Given the description of an element on the screen output the (x, y) to click on. 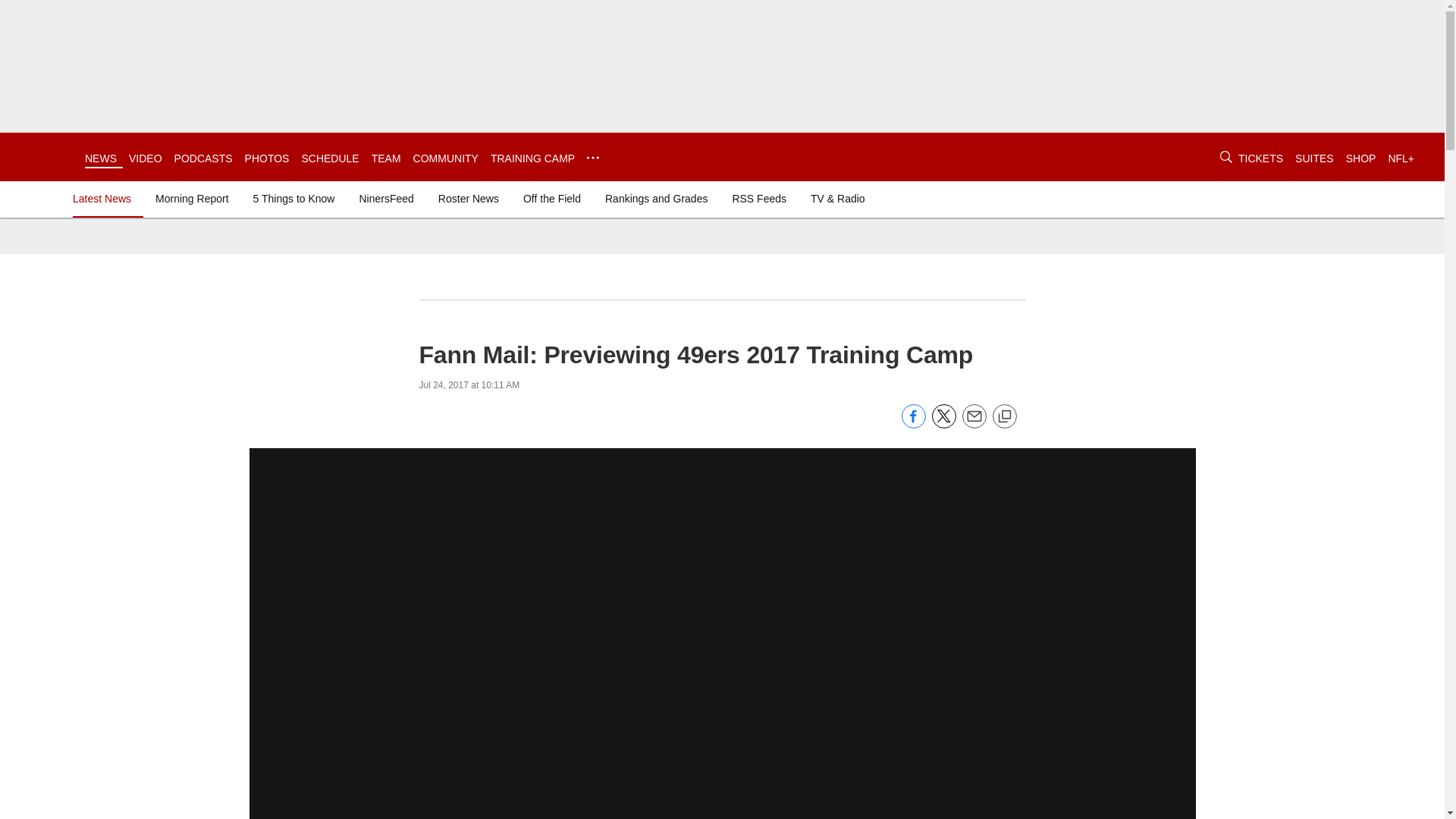
Morning Report (191, 198)
SHOP (1360, 158)
COMMUNITY (446, 158)
TEAM (386, 158)
PHOTOS (266, 158)
PHOTOS (266, 158)
Rankings and Grades (655, 198)
NEWS (100, 158)
PODCASTS (203, 158)
... (592, 157)
VIDEO (145, 158)
SUITES (1314, 158)
RSS Feeds (758, 198)
Off the Field (551, 198)
Roster News (468, 198)
